Given the description of an element on the screen output the (x, y) to click on. 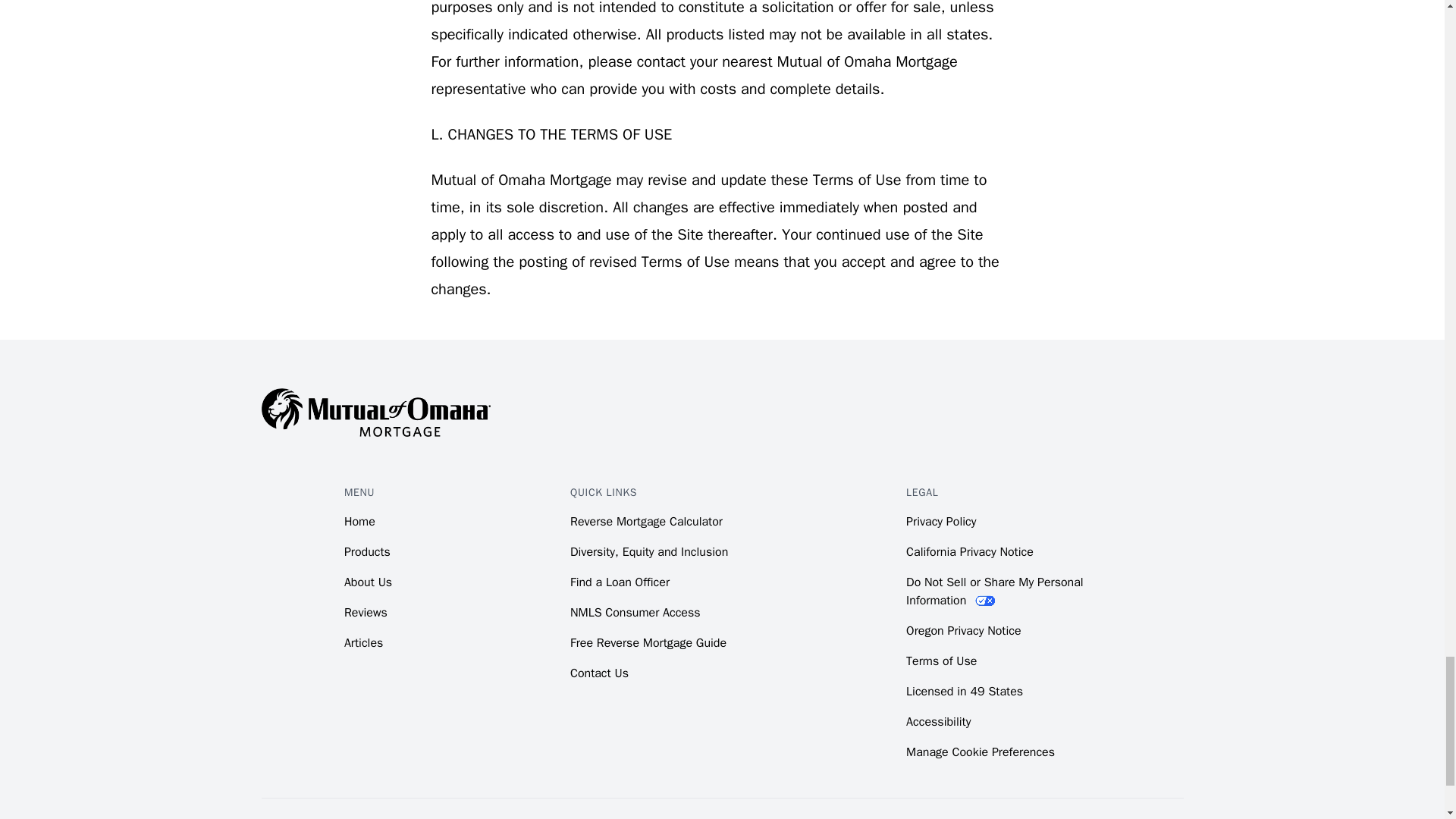
Find a Loan Officer (619, 581)
Diversity, Equity and Inclusion (649, 551)
Reviews (365, 612)
Licensed in 49 States (964, 691)
Contact Us (599, 672)
California Privacy Notice (969, 551)
Do Not Sell or Share My Personal Information (994, 591)
Home (359, 521)
Free Reverse Mortgage Guide (648, 642)
Terms of Use (940, 661)
NMLS Consumer Access (635, 612)
Reverse Mortgage Calculator (646, 521)
Manage Cookie Preferences (979, 752)
Products (366, 551)
Articles (362, 642)
